Given the description of an element on the screen output the (x, y) to click on. 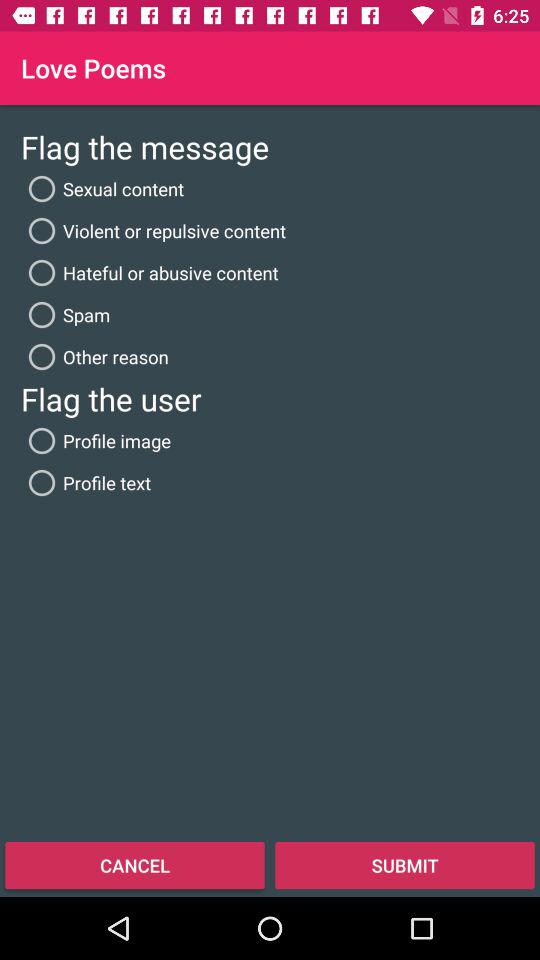
press the profile image radio button (95, 440)
